Given the description of an element on the screen output the (x, y) to click on. 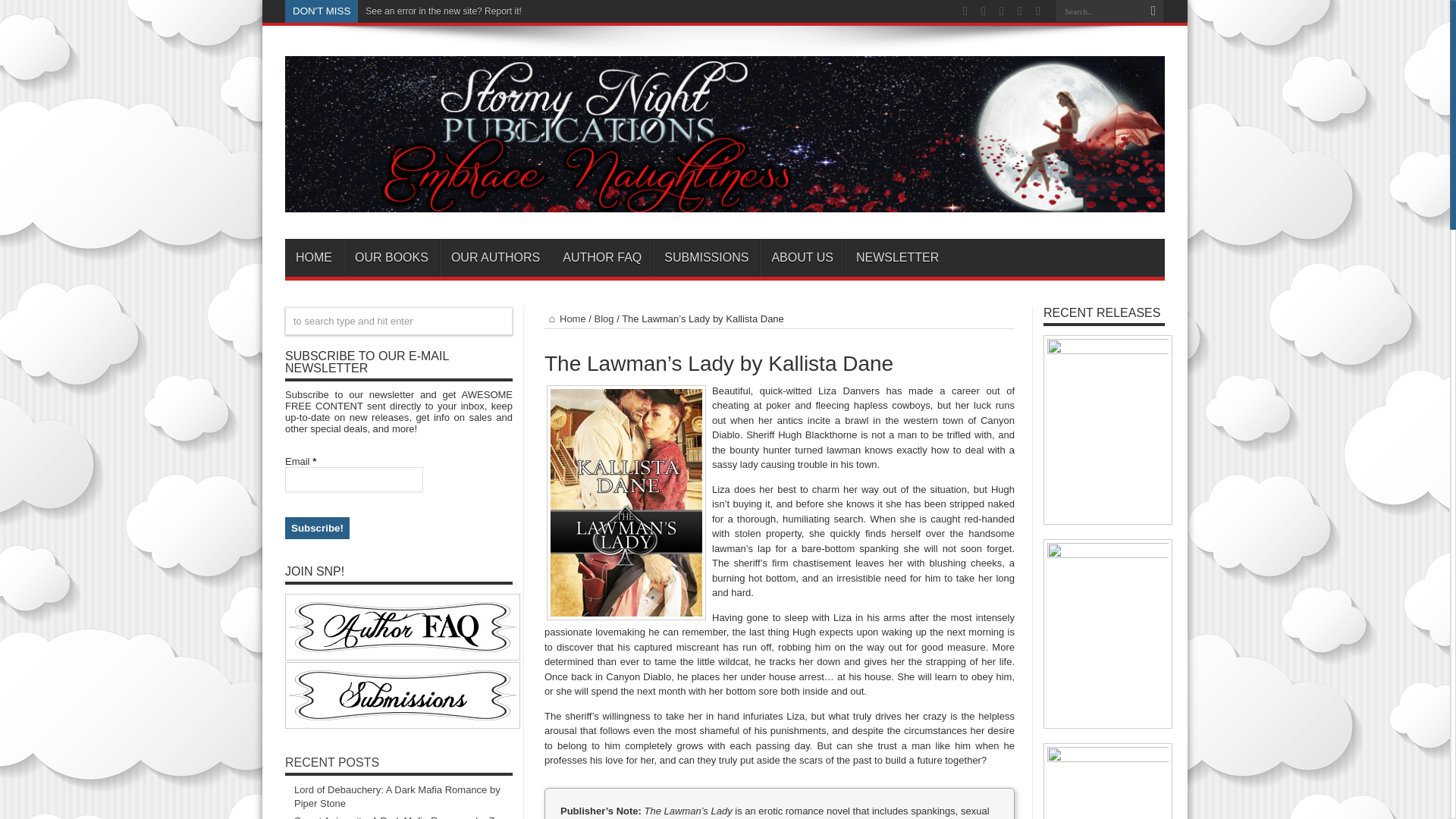
Search (1152, 11)
Subscribe! (317, 527)
Rss (965, 11)
Stormy Night Publications (724, 200)
OUR AUTHORS (494, 257)
to search type and hit enter (398, 320)
Facebook (1001, 11)
OUR BOOKS (391, 257)
Email (354, 479)
HOME (313, 257)
See an error in the new site? Report it! (443, 11)
Twitter (1019, 11)
Pinterest (1037, 11)
Search... (1097, 11)
See an error in the new site? Report it! (443, 11)
